Given the description of an element on the screen output the (x, y) to click on. 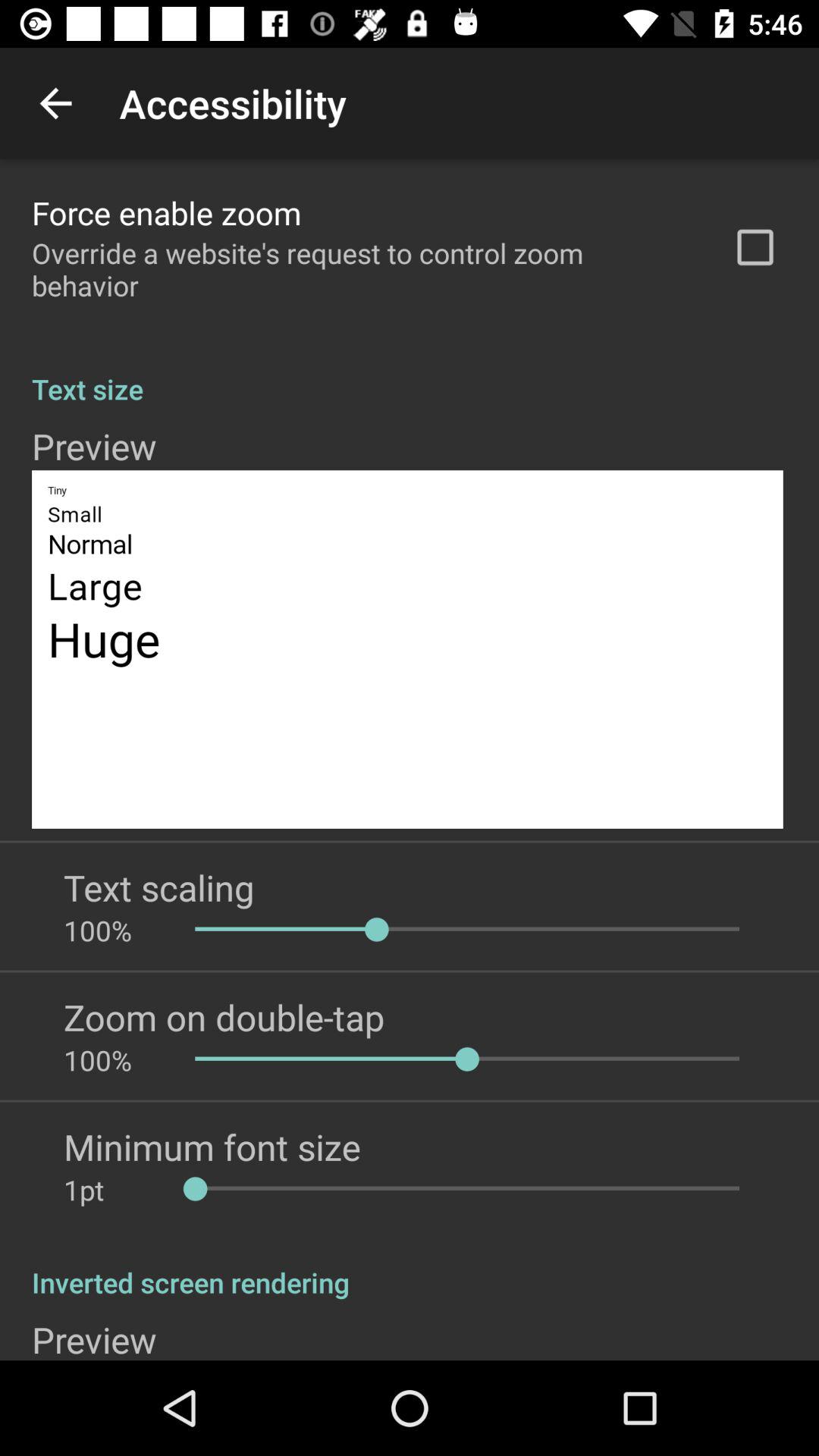
open the app next to override a website icon (755, 247)
